Given the description of an element on the screen output the (x, y) to click on. 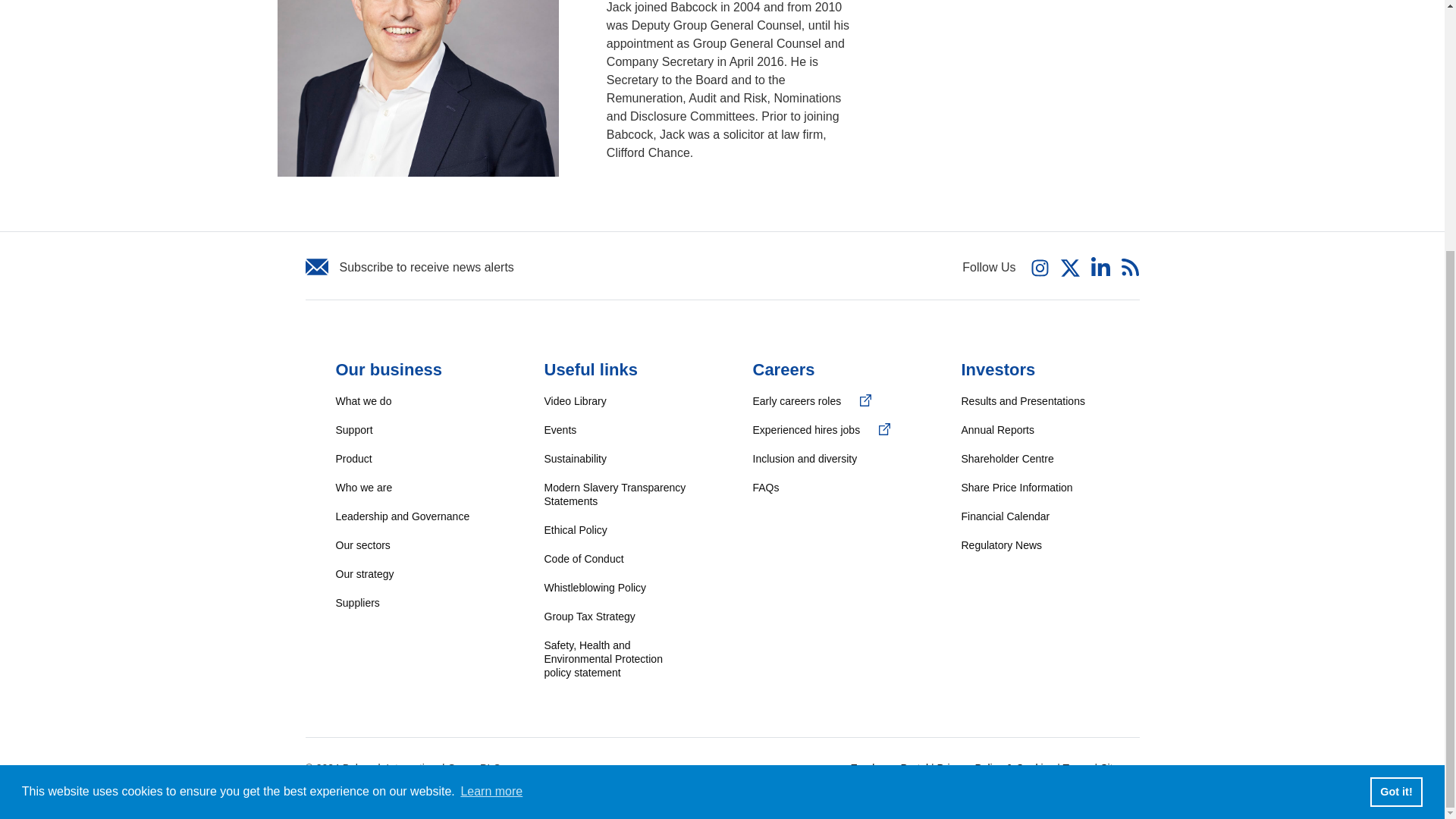
Got it! (1396, 439)
Learn more (491, 438)
Follow Babcock International on LinkedIn (1099, 265)
Follow Babcock International on X (1070, 266)
